Given the description of an element on the screen output the (x, y) to click on. 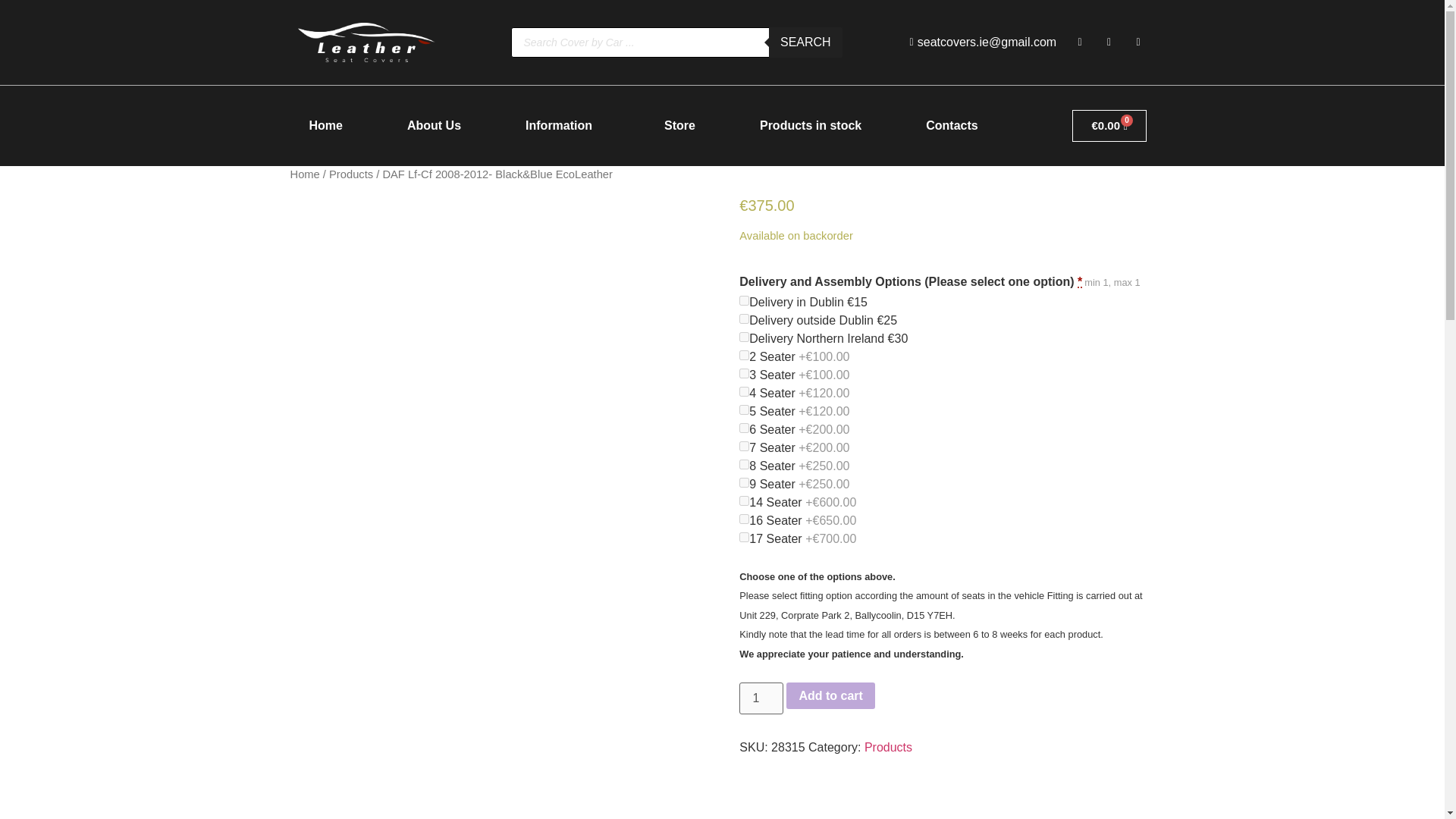
Products in stock (810, 125)
3seater (744, 373)
8seater (744, 464)
9seater (744, 482)
Store (679, 125)
25 (744, 318)
15 (744, 300)
14seater (744, 501)
16seater (744, 519)
Add to cart (830, 696)
Contacts (951, 125)
30 (744, 337)
Information (562, 125)
6seater (744, 428)
4seater (744, 391)
